Given the description of an element on the screen output the (x, y) to click on. 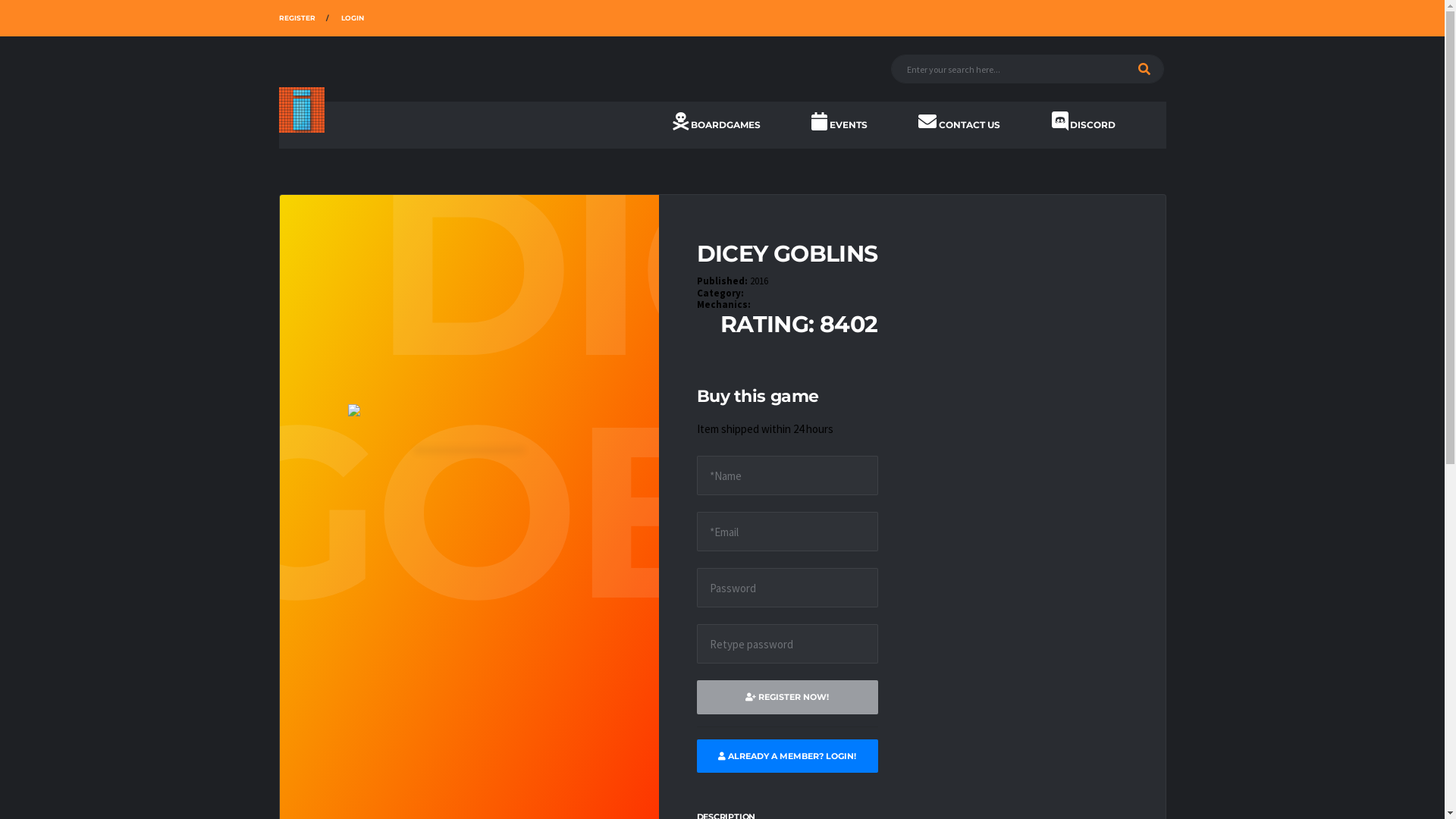
BOARDGAMES Element type: text (716, 124)
REGISTER Element type: text (297, 18)
LOGIN Element type: text (352, 18)
EVENTS Element type: text (839, 124)
ALREADY A MEMBER? LOGIN! Element type: text (786, 756)
REGISTER NOW! Element type: text (786, 697)
DISCORD Element type: text (1082, 124)
CONTACT US Element type: text (959, 124)
DICEY GOBLINS Element type: text (786, 253)
